Given the description of an element on the screen output the (x, y) to click on. 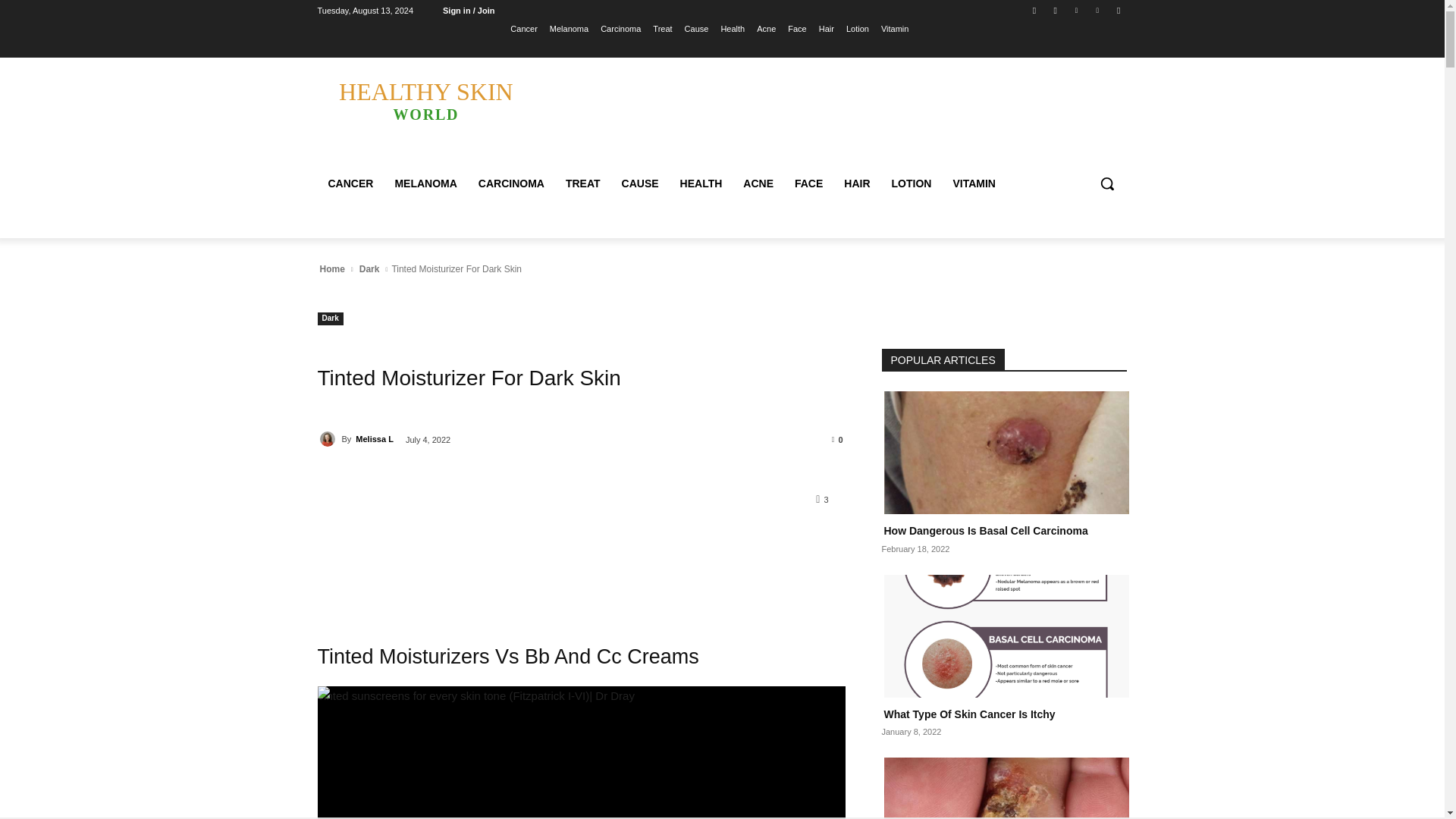
Instagram (1055, 9)
Acne (766, 28)
Melanoma (569, 28)
Lotion (857, 28)
Youtube (1117, 9)
Cancer (524, 28)
Vimeo (1097, 9)
Vitamin (894, 28)
Facebook (1034, 9)
Cause (696, 28)
